Given the description of an element on the screen output the (x, y) to click on. 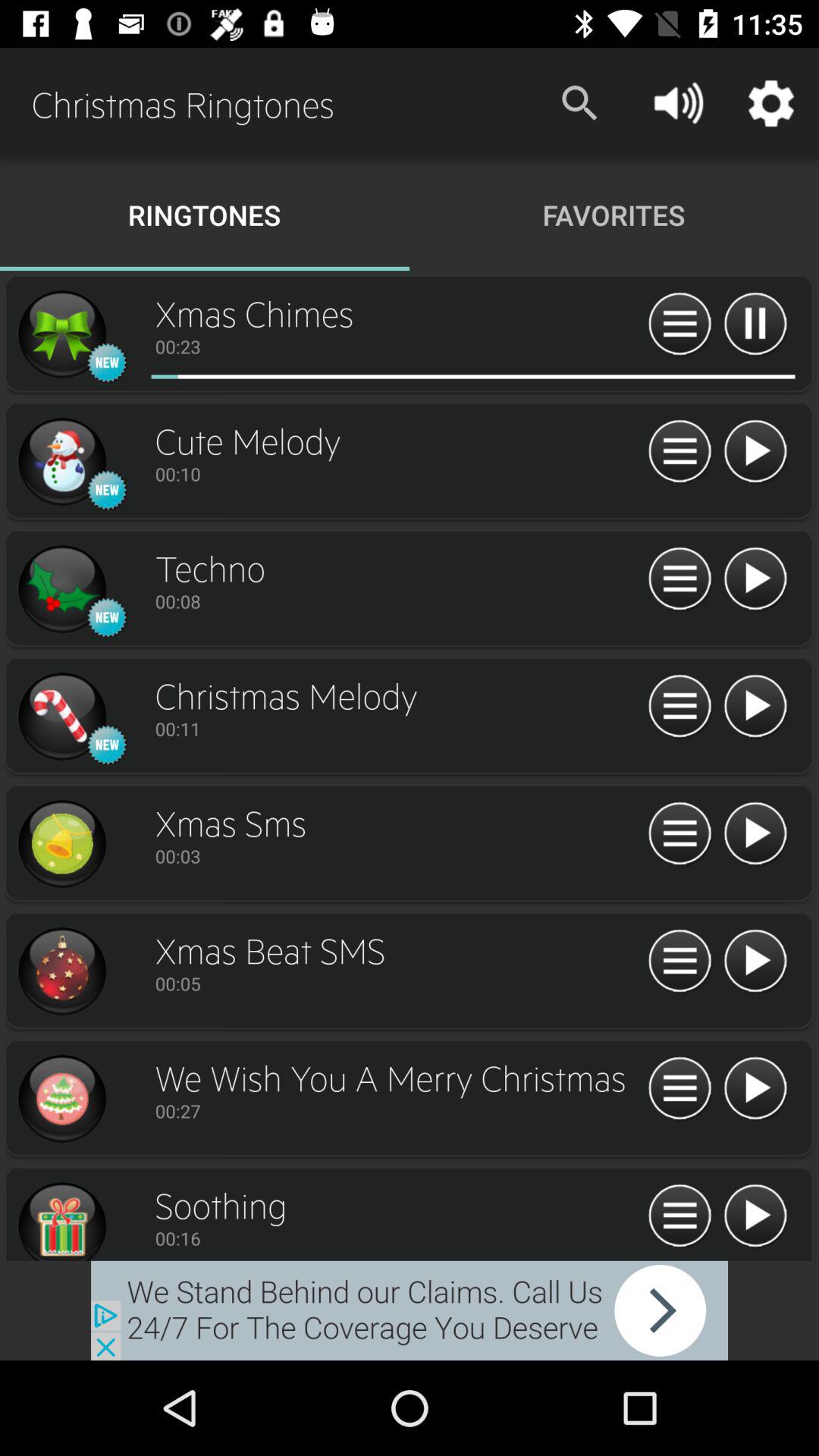
techno ringtone more options like sending or to delete (679, 579)
